Given the description of an element on the screen output the (x, y) to click on. 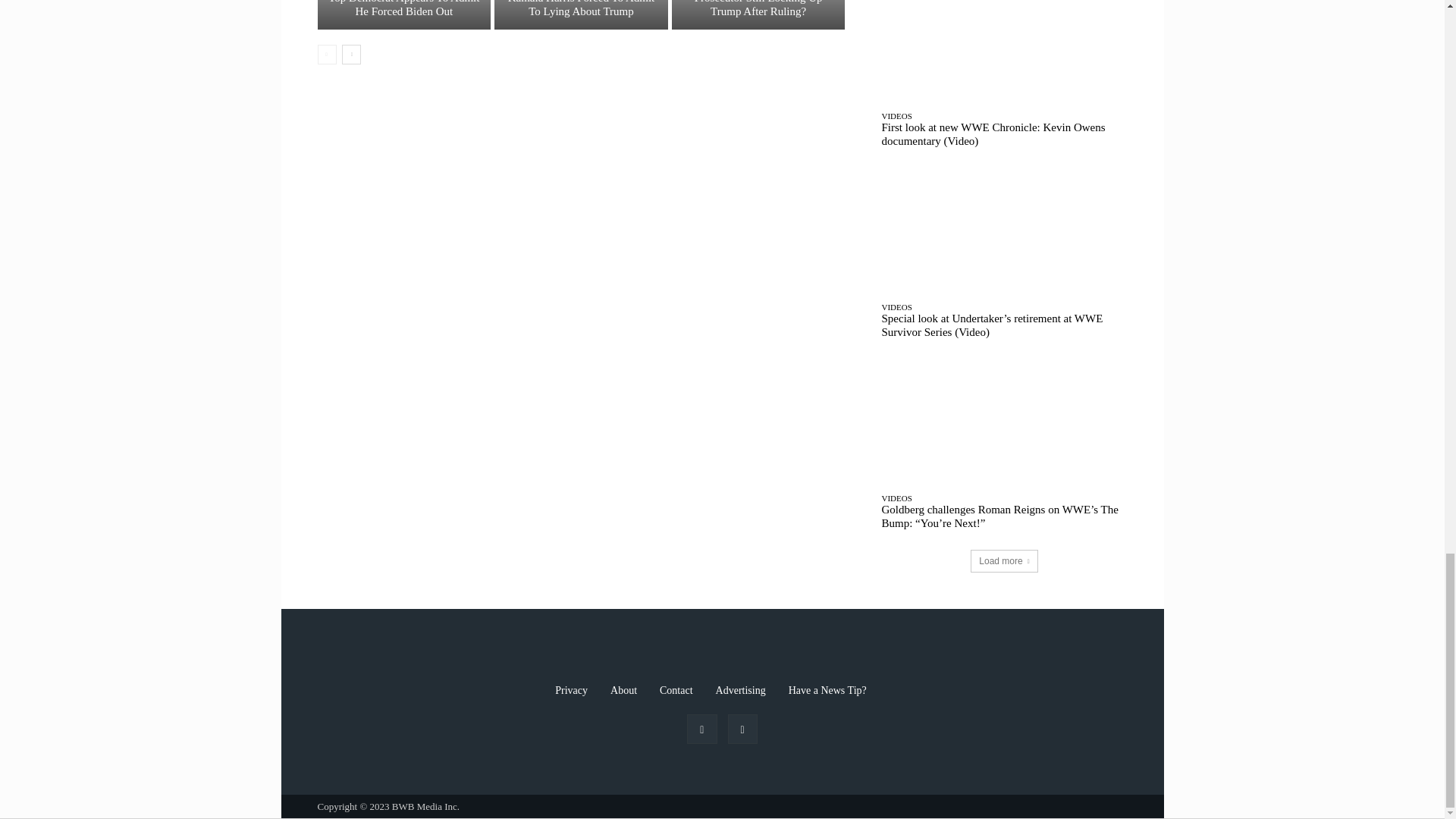
Top Democrat Appears To Admit He Forced Biden Out (403, 14)
Top Democrat Appears To Admit He Forced Biden Out (404, 8)
Kamala Harris Forced To Admit To Lying About Trump (581, 8)
Prosecutor Still Locking Up Trump After Ruling? (758, 14)
Prosecutor Still Locking Up Trump After Ruling? (758, 8)
Kamala Harris Forced To Admit To Lying About Trump (581, 14)
